Given the description of an element on the screen output the (x, y) to click on. 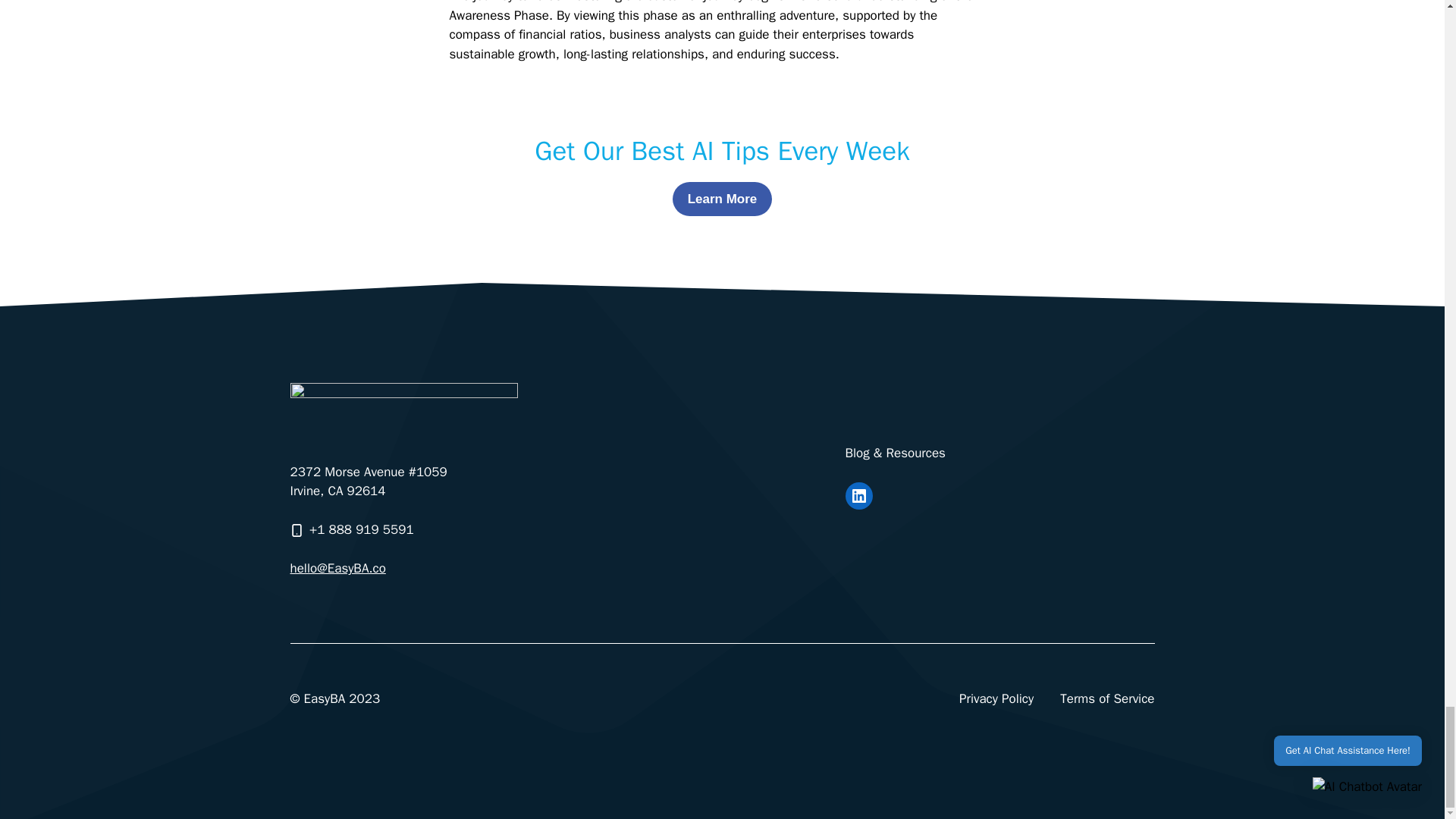
LinkedIn (858, 495)
Learn More (722, 199)
Privacy Policy (996, 699)
Terms of Service (1106, 699)
